Given the description of an element on the screen output the (x, y) to click on. 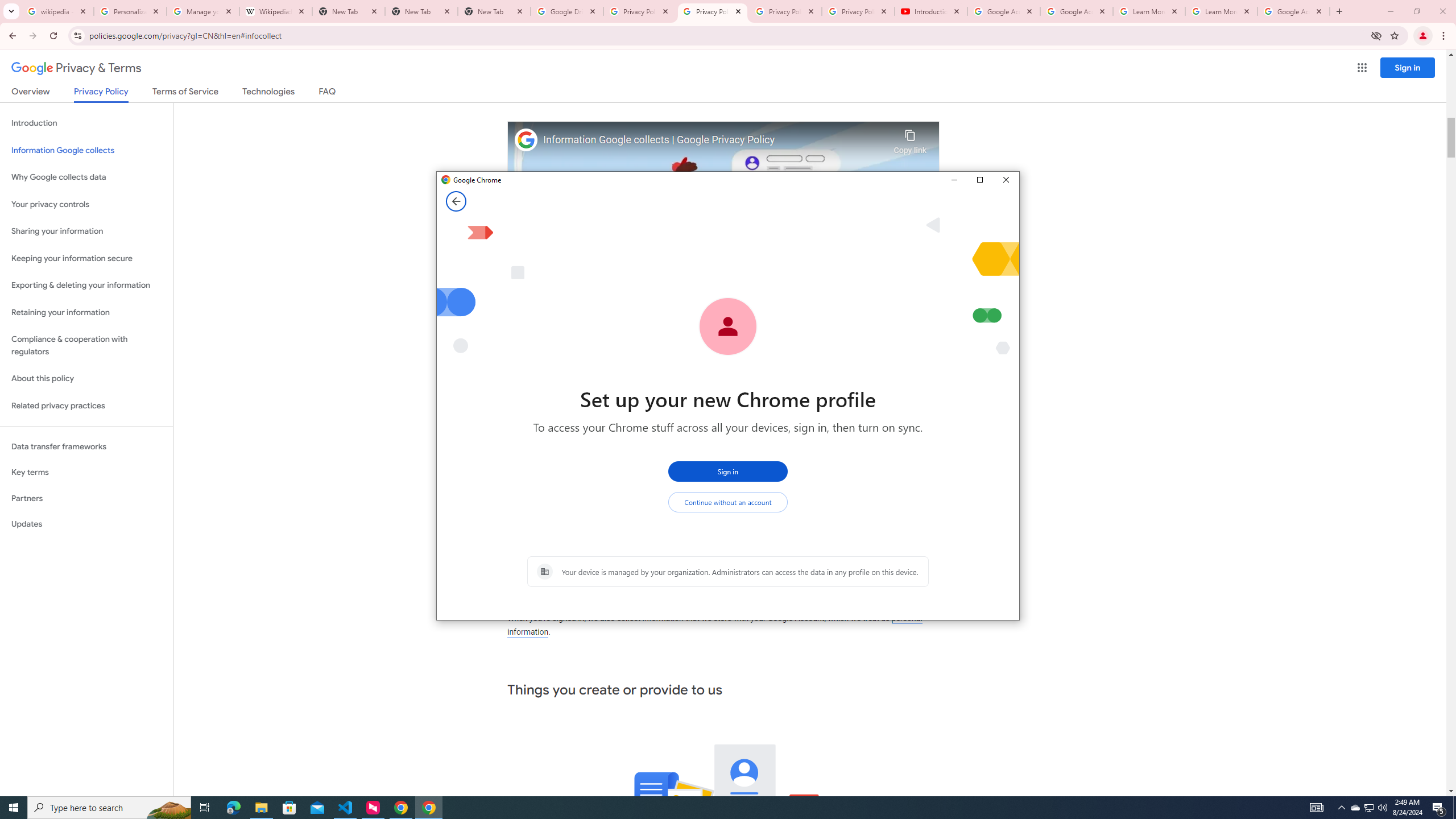
Privacy & Terms (76, 68)
Visual Studio Code - 1 running window (345, 807)
Related privacy practices (86, 405)
Data transfer frameworks (86, 446)
Microsoft Store (289, 807)
Compliance & cooperation with regulators (1355, 807)
Search highlights icon opens search home window (86, 345)
Sharing your information (167, 807)
Information Google collects | Google Privacy Policy (86, 230)
Overview (715, 140)
